Given the description of an element on the screen output the (x, y) to click on. 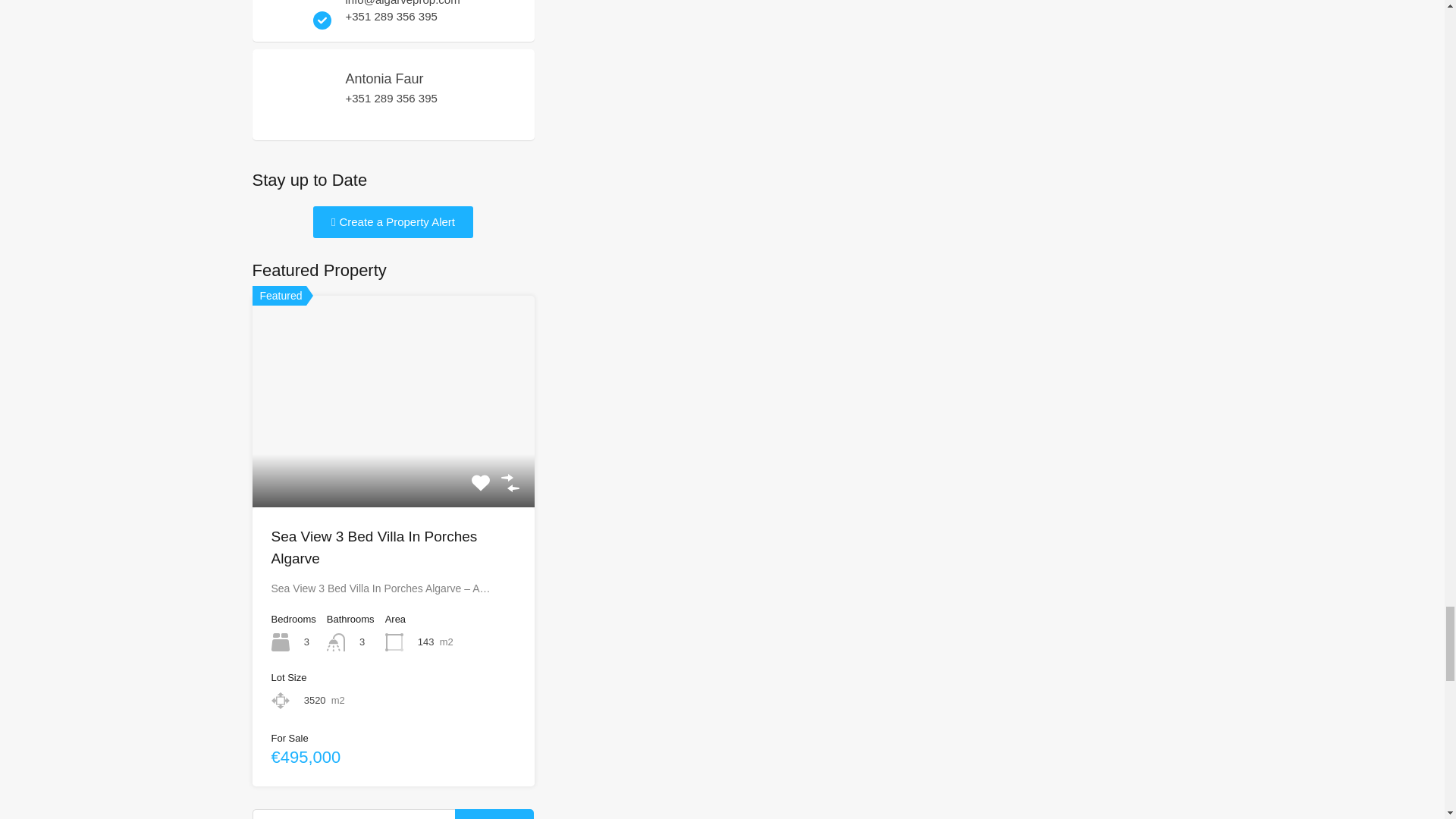
Antonia Faur (296, 120)
Search (494, 814)
Gary Thomas (296, 21)
